Given the description of an element on the screen output the (x, y) to click on. 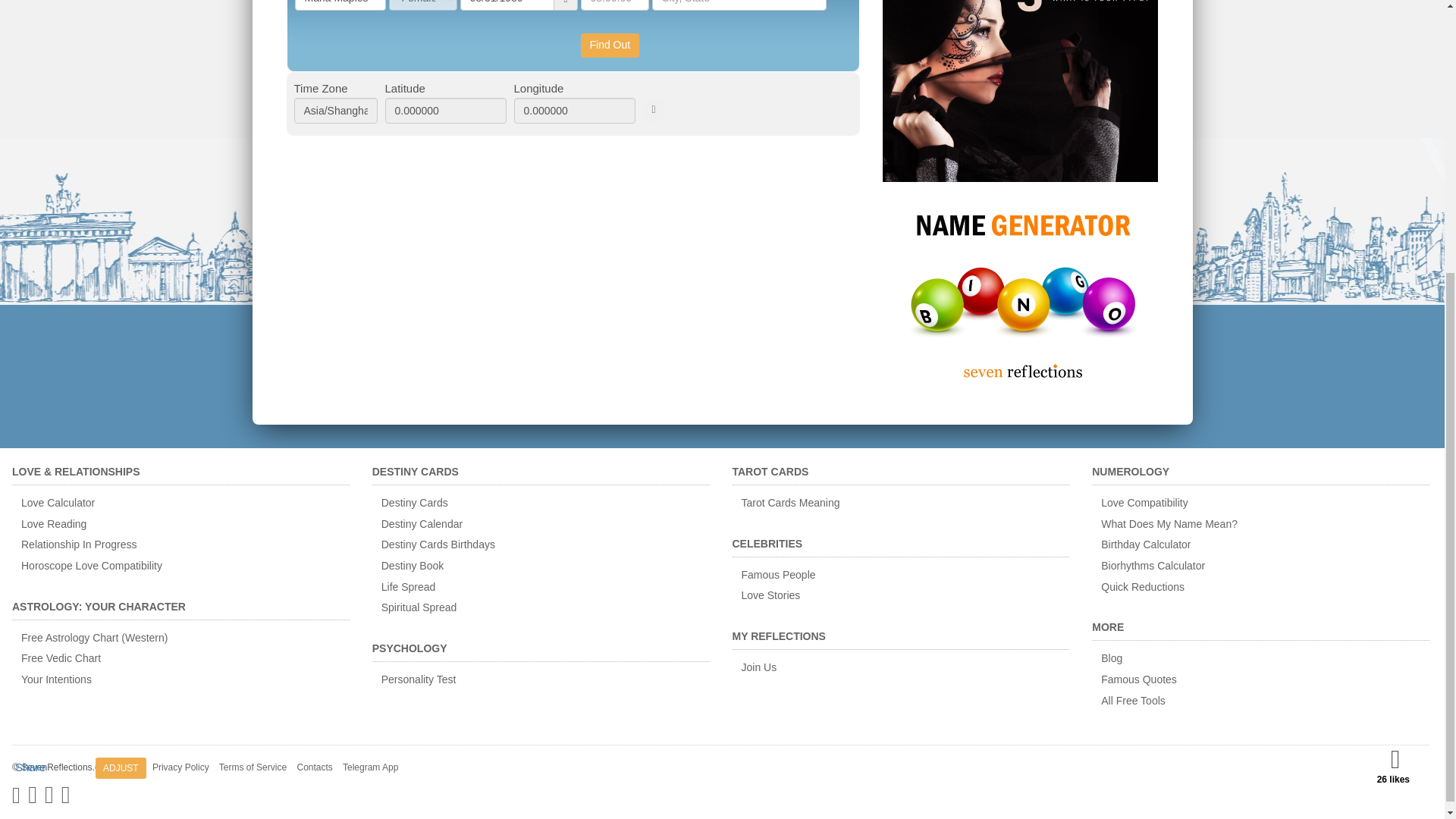
Marla Maples (339, 5)
0.000000 (445, 110)
0.000000 (573, 110)
Custom Parameters (654, 109)
